Given the description of an element on the screen output the (x, y) to click on. 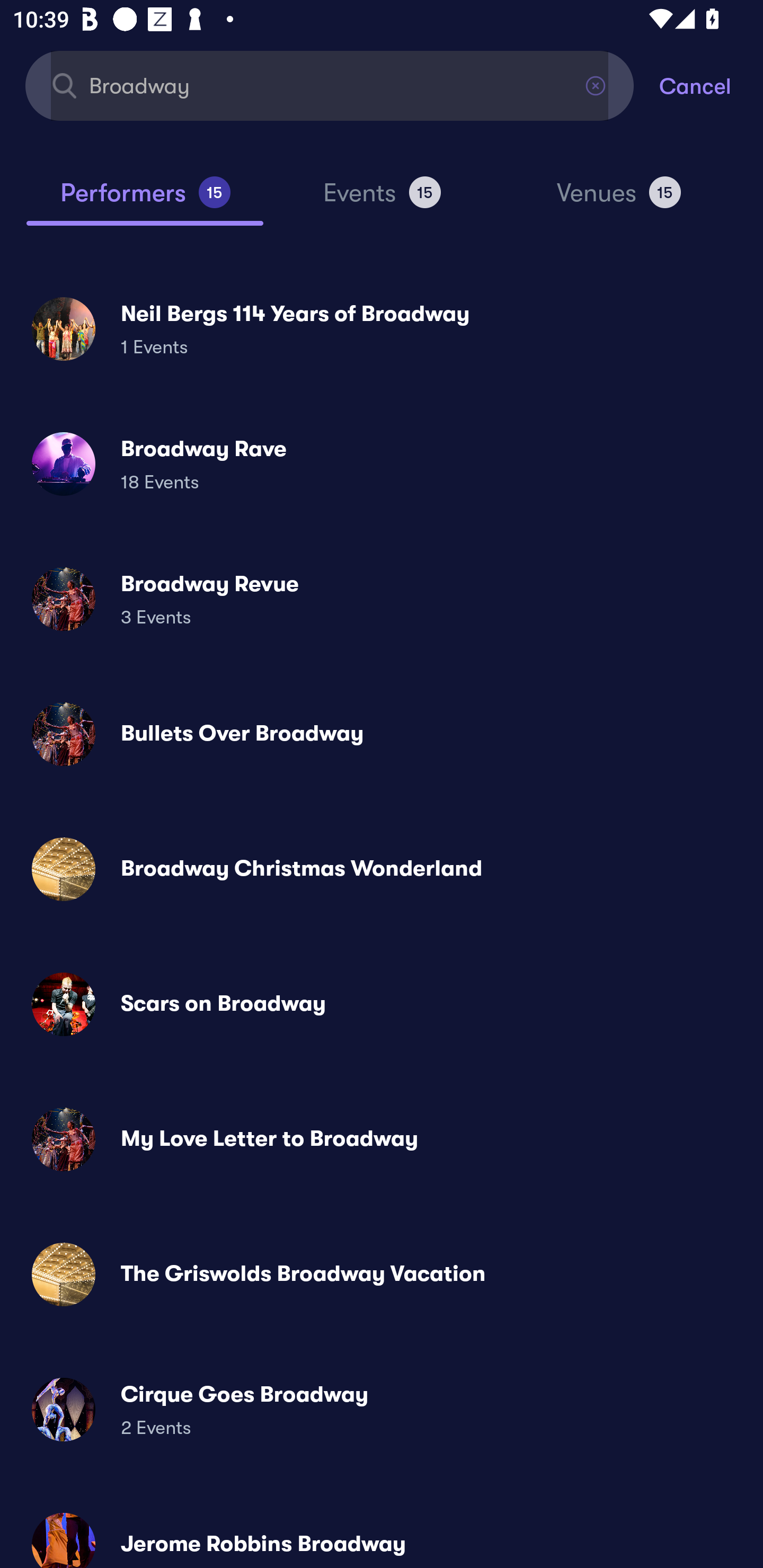
Broadway Find (329, 85)
Broadway Find (329, 85)
Cancel (711, 85)
Performers 15 (144, 200)
Events 15 (381, 200)
Venues 15 (618, 200)
Neil Bergs 114 Years of Broadway 1 Events (381, 328)
Broadway Rave 18 Events (381, 464)
Broadway Revue 3 Events (381, 598)
Bullets Over Broadway (381, 734)
Broadway Christmas Wonderland (381, 869)
Scars on Broadway (381, 1004)
My Love Letter to Broadway (381, 1138)
The Griswolds Broadway Vacation (381, 1273)
Cirque Goes Broadway 2 Events (381, 1409)
Jerome Robbins Broadway (381, 1532)
